Given the description of an element on the screen output the (x, y) to click on. 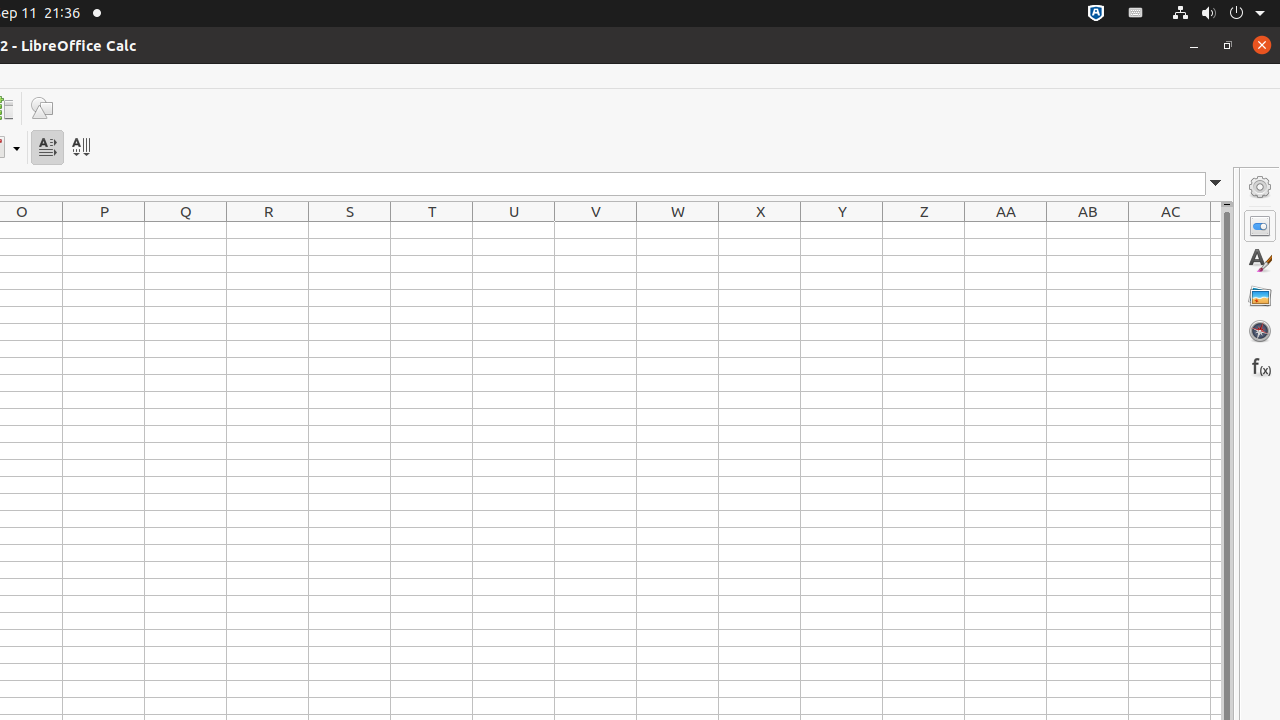
Draw Functions Element type: toggle-button (41, 108)
T1 Element type: table-cell (432, 230)
